Given the description of an element on the screen output the (x, y) to click on. 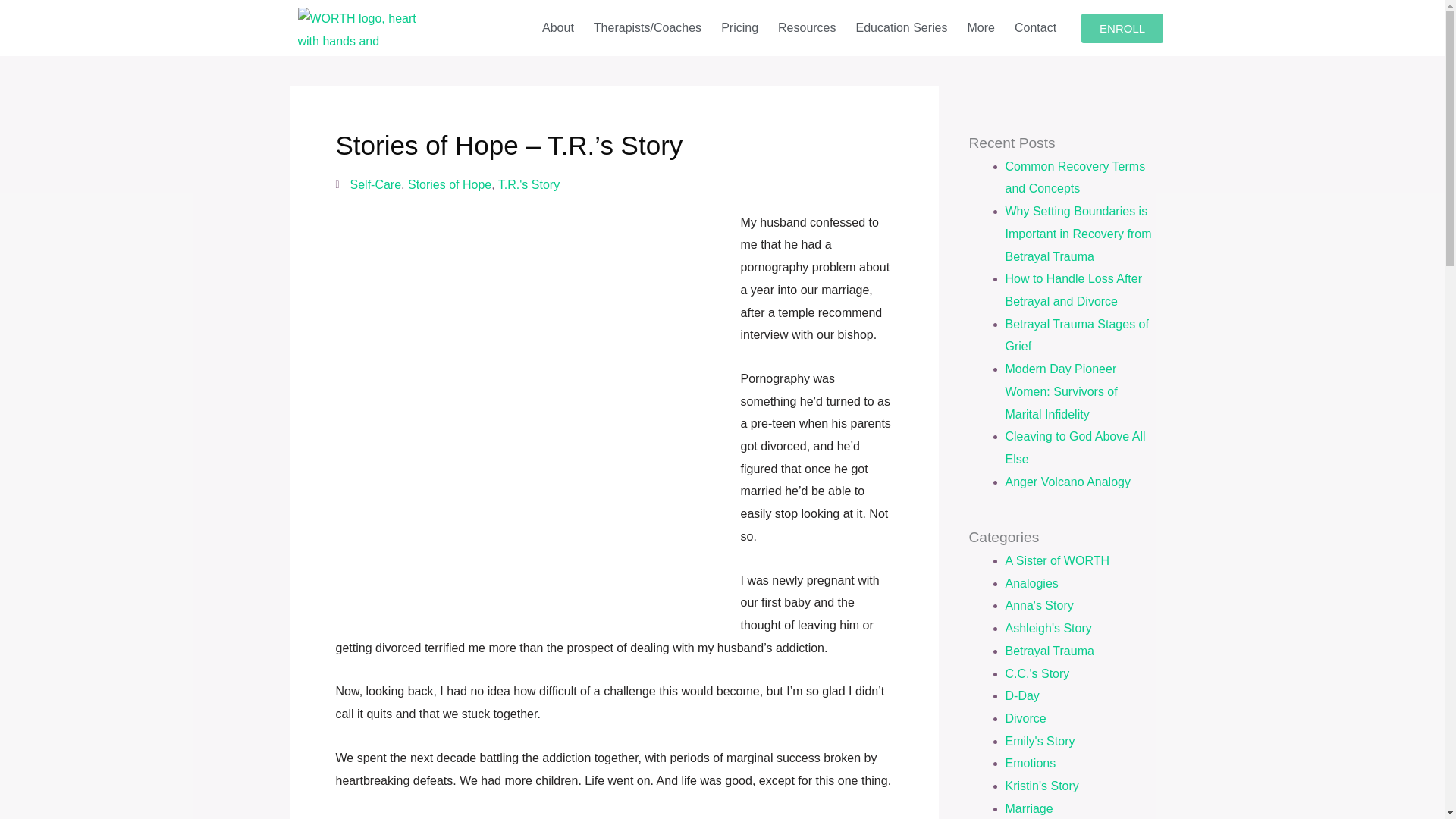
Education Series (901, 27)
Pricing (739, 27)
Contact (1034, 27)
More (980, 27)
About (557, 27)
Resources (806, 27)
